Given the description of an element on the screen output the (x, y) to click on. 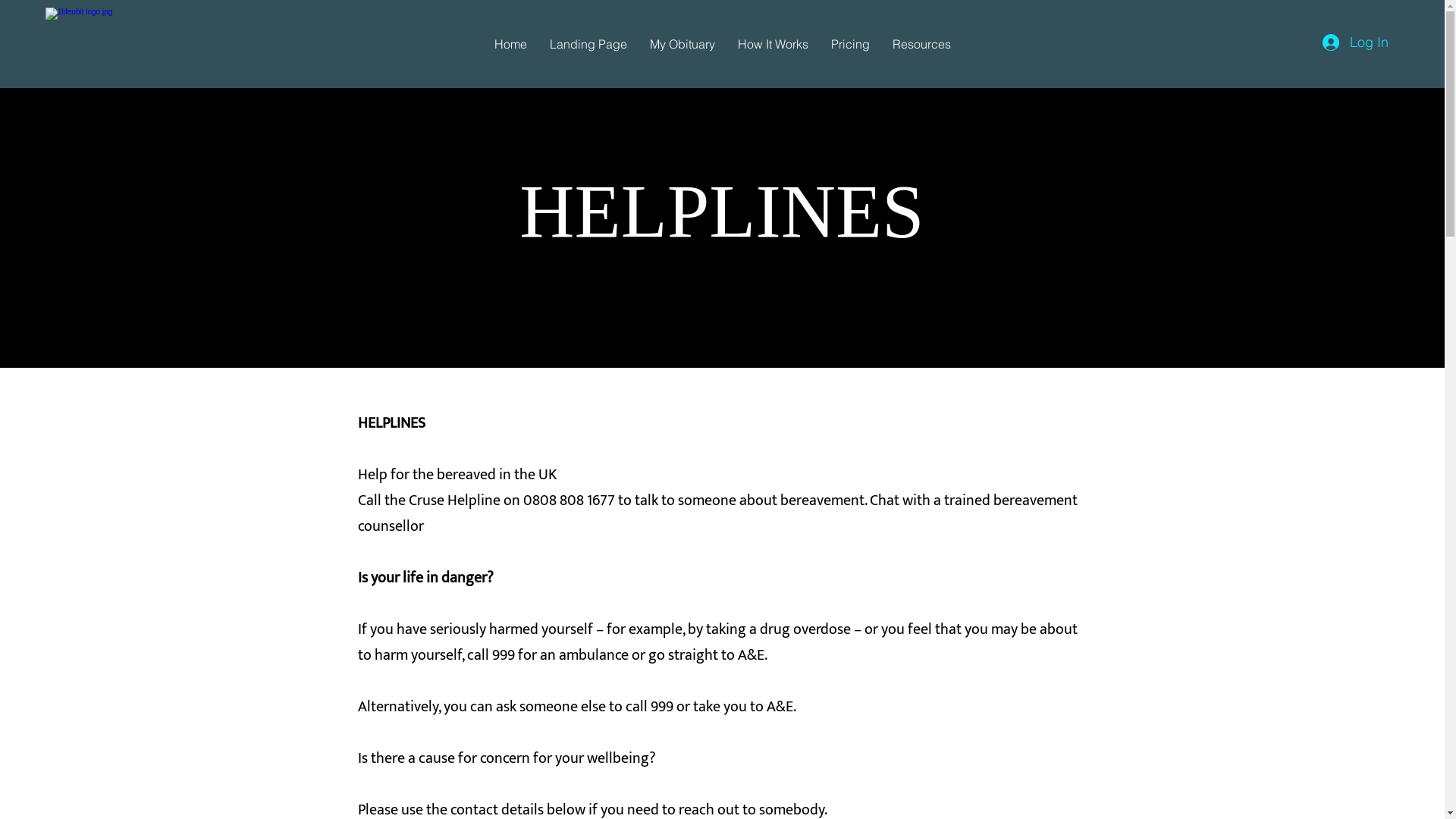
Landing Page Element type: text (588, 43)
Home Element type: text (509, 43)
Log In Element type: text (1355, 42)
Pricing Element type: text (849, 43)
